Given the description of an element on the screen output the (x, y) to click on. 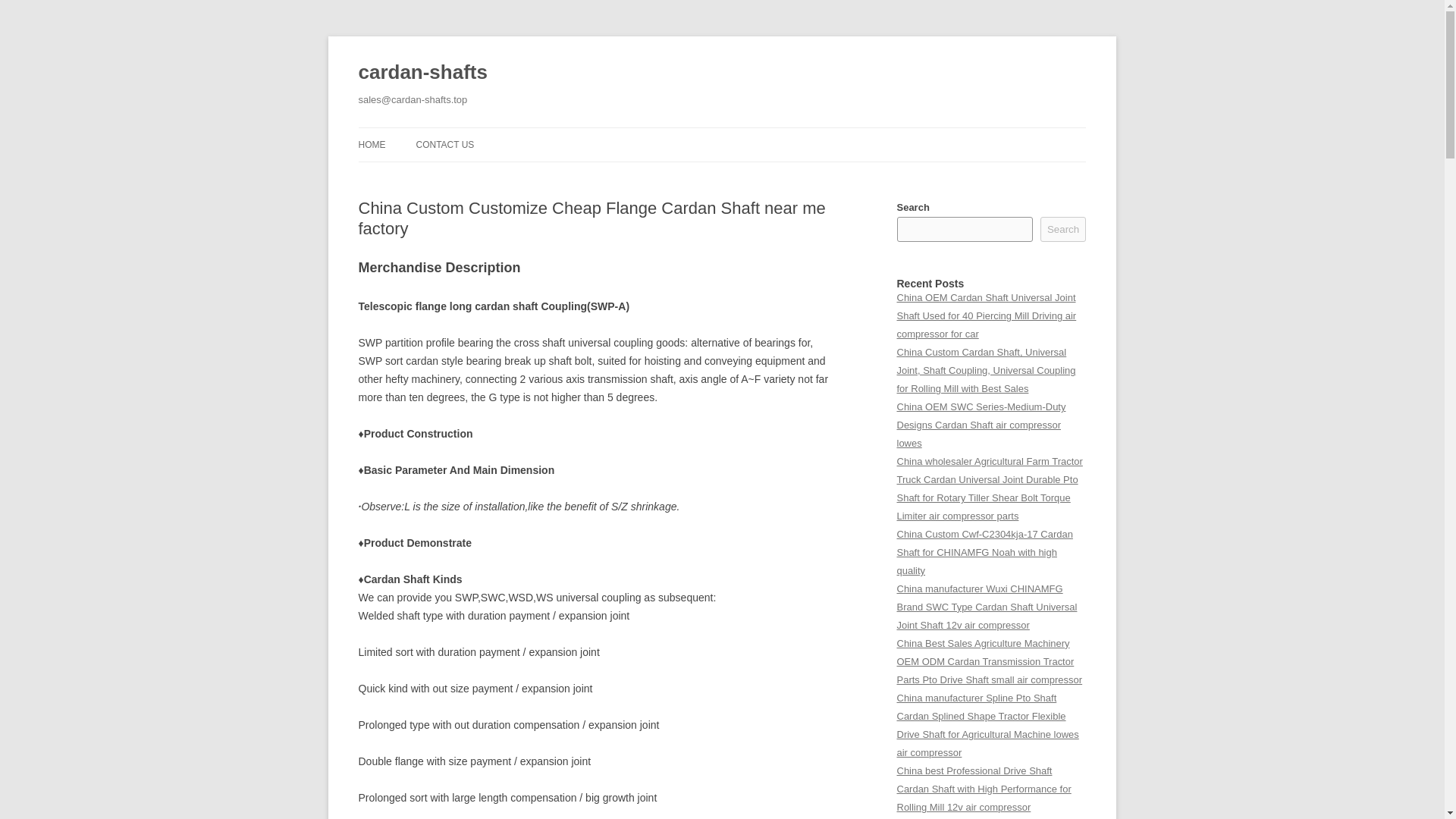
cardan-shafts (422, 72)
CONTACT US (444, 144)
Search (1063, 229)
cardan-shafts (422, 72)
